Given the description of an element on the screen output the (x, y) to click on. 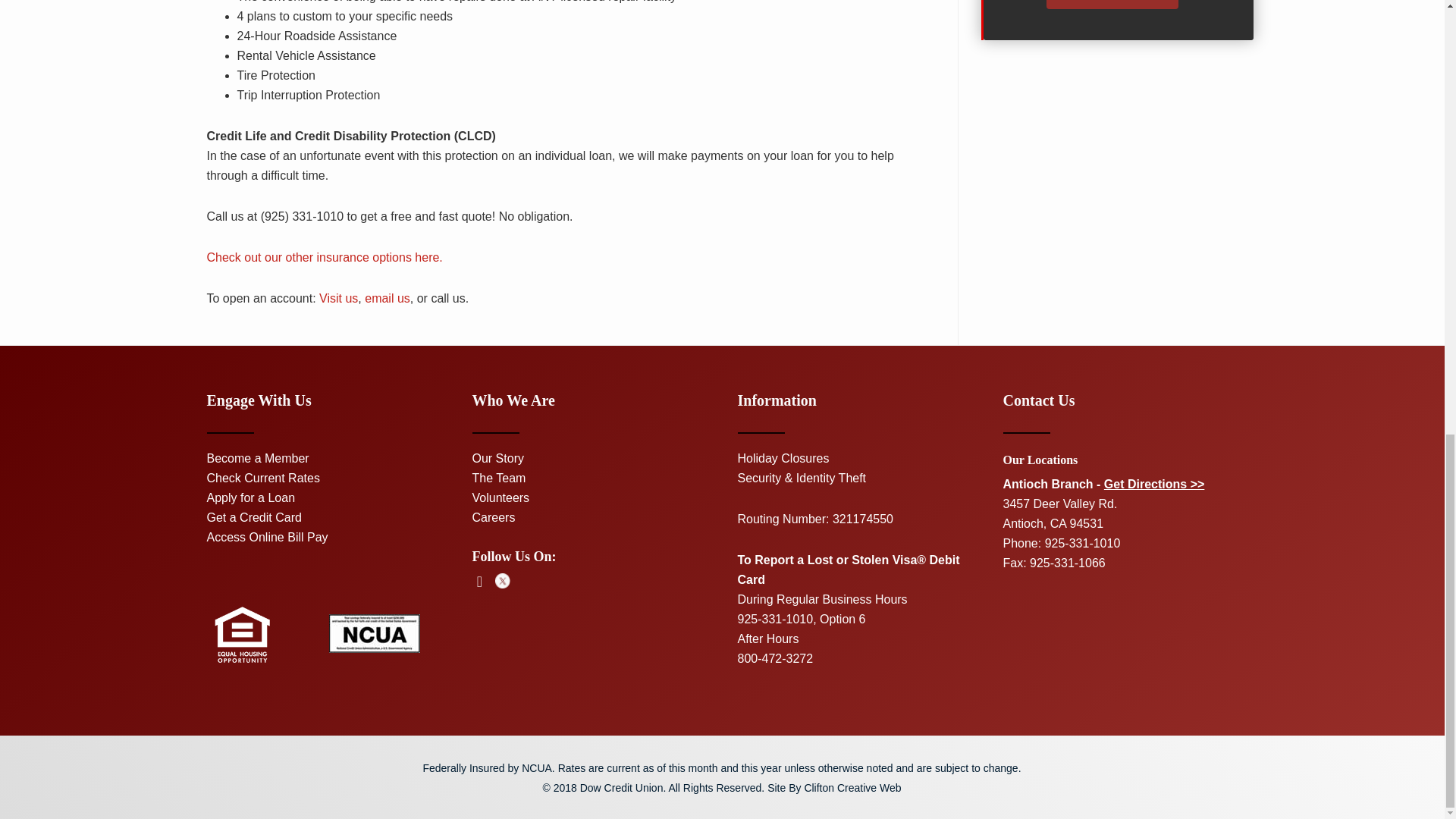
ehowhite (241, 634)
image005 (374, 633)
Submit (1111, 4)
